Given the description of an element on the screen output the (x, y) to click on. 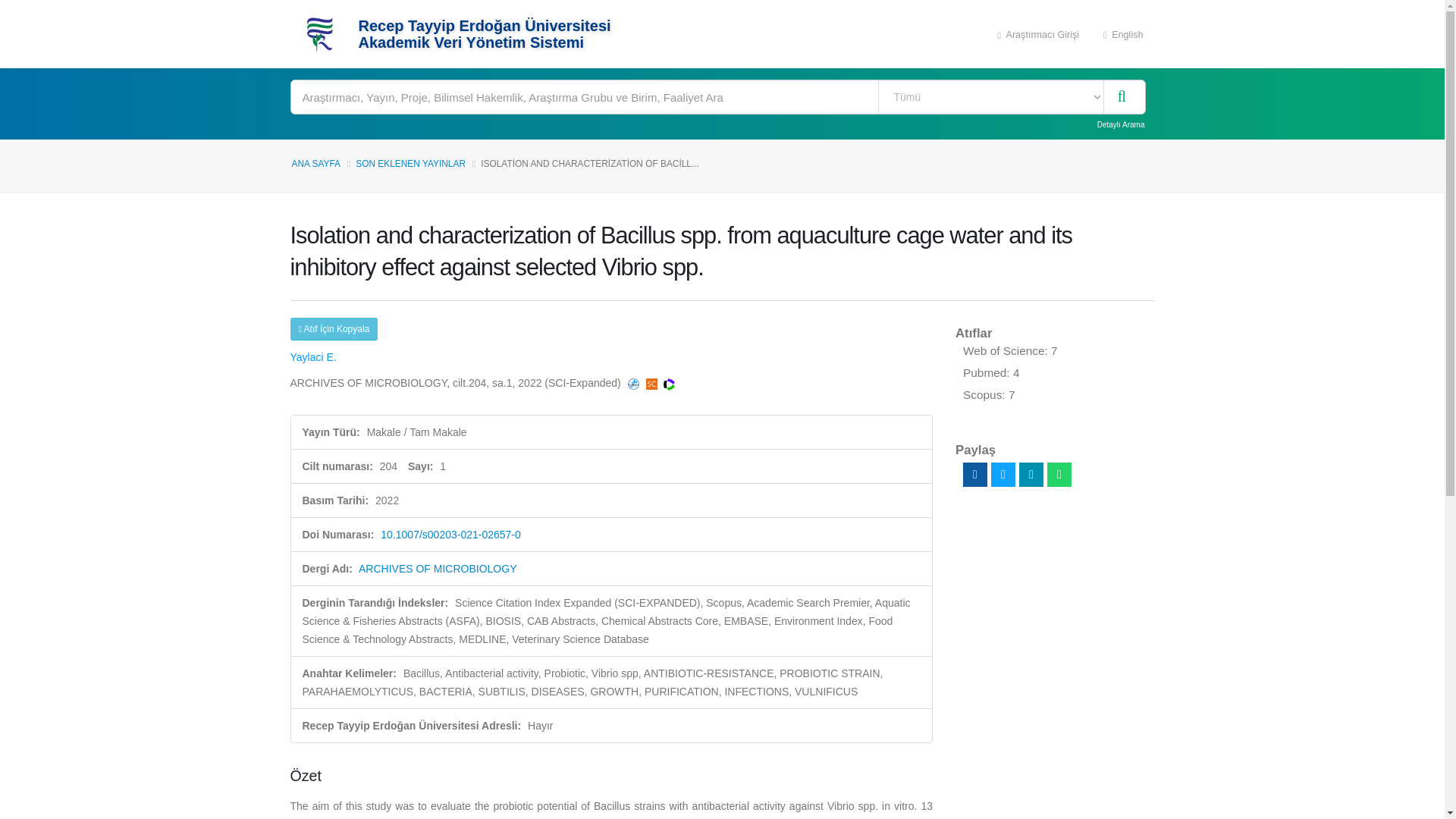
English (1123, 33)
ANA SAYFA (315, 163)
Yaylaci E. (312, 357)
ARCHIVES OF MICROBIOLOGY (437, 568)
SON EKLENEN YAYINLAR (410, 163)
